Given the description of an element on the screen output the (x, y) to click on. 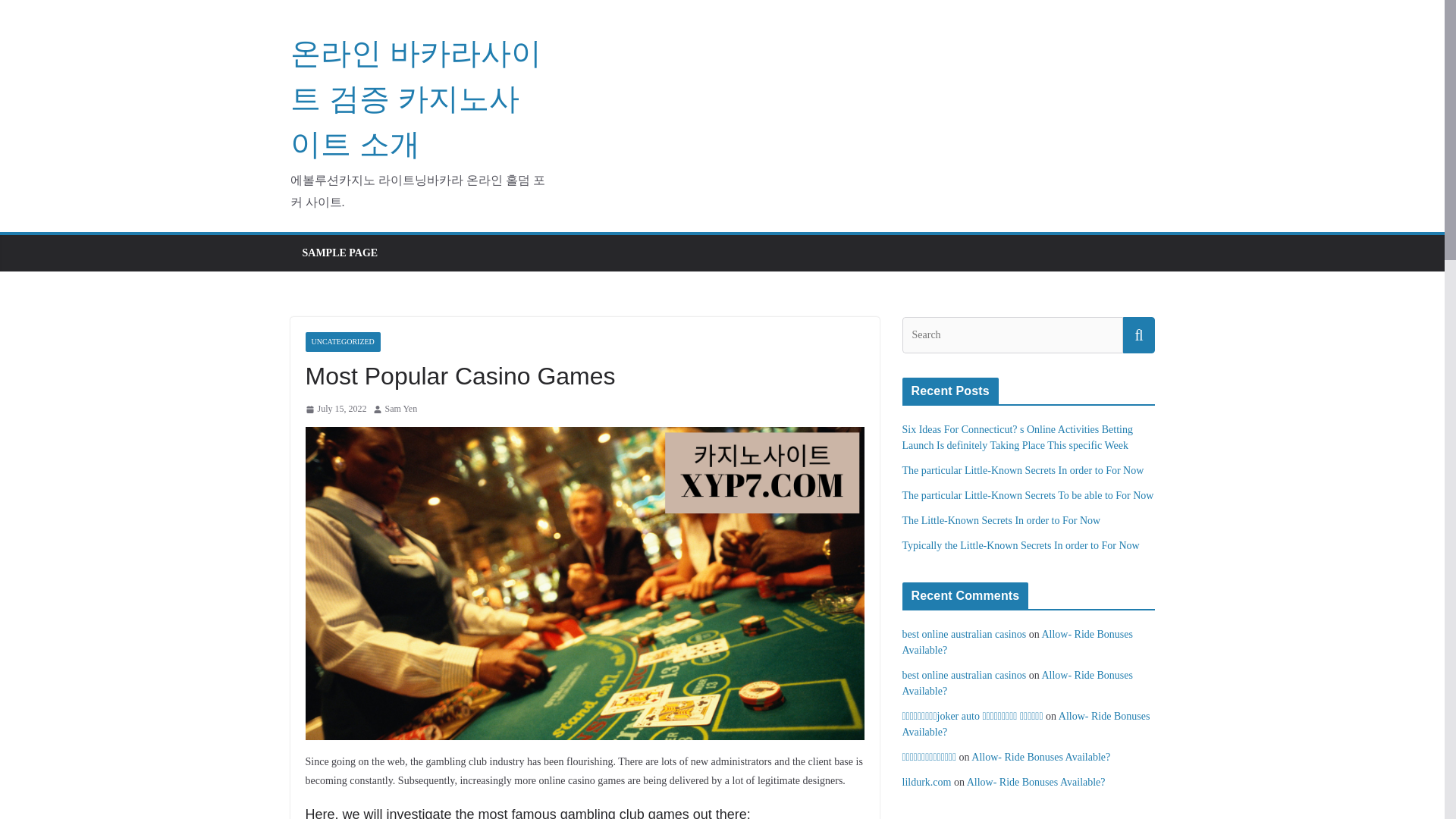
Sam Yen (401, 409)
The particular Little-Known Secrets To be able to For Now (1028, 495)
lildurk.com (927, 781)
6:21 am (335, 409)
The particular Little-Known Secrets In order to For Now (1023, 470)
Allow- Ride Bonuses Available? (1035, 781)
Sam Yen (401, 409)
Allow- Ride Bonuses Available? (1026, 723)
best online australian casinos (964, 633)
UNCATEGORIZED (342, 342)
best online australian casinos (964, 674)
Allow- Ride Bonuses Available? (1040, 756)
Typically the Little-Known Secrets In order to For Now (1021, 545)
Allow- Ride Bonuses Available? (1017, 682)
